Given the description of an element on the screen output the (x, y) to click on. 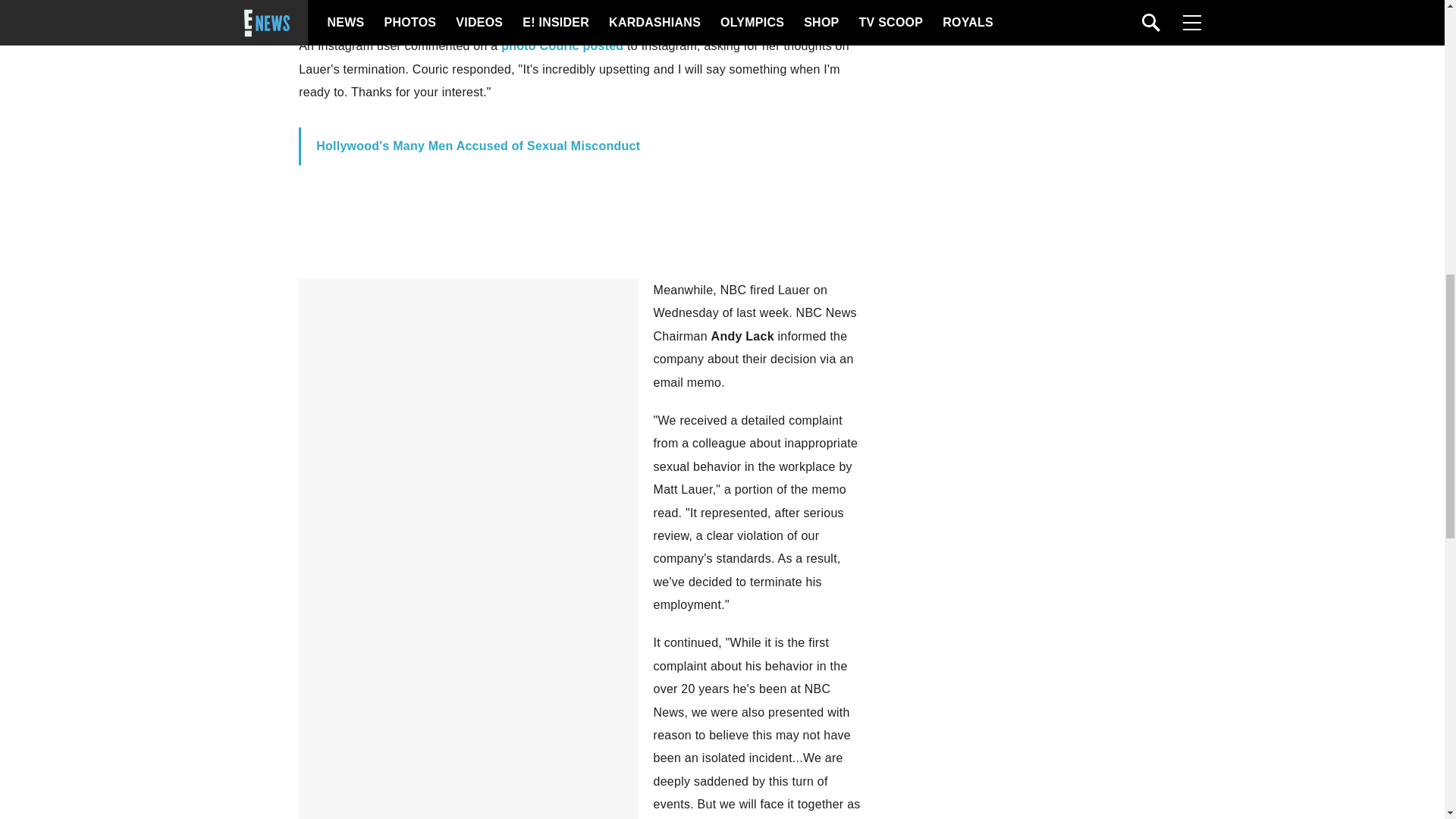
photo Couric posted (561, 45)
Hollywood's Many Men Accused of Sexual Misconduct (477, 145)
